Given the description of an element on the screen output the (x, y) to click on. 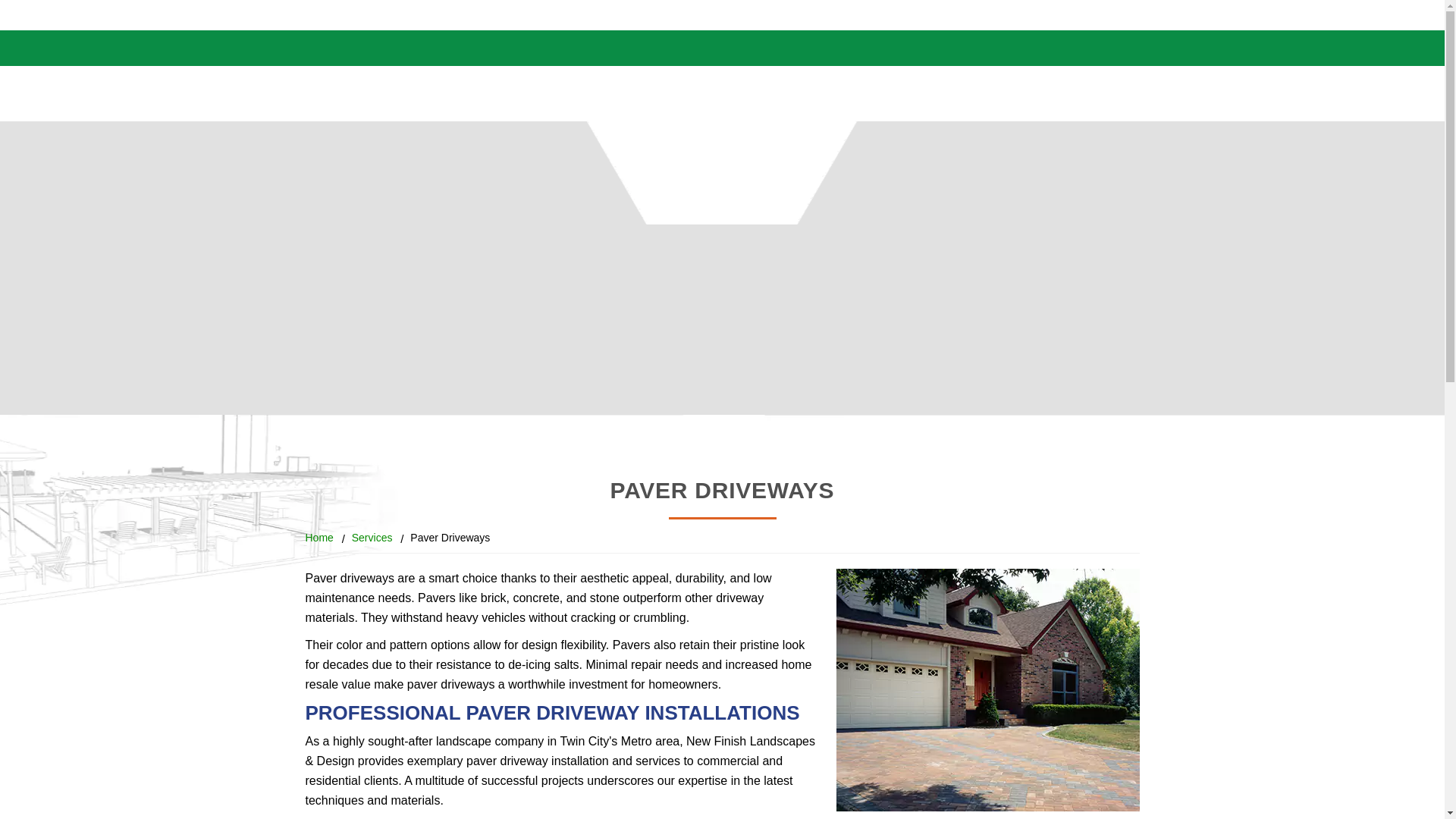
Paver Driveways, Bloomington, MN (986, 689)
Services (372, 537)
Home (318, 537)
